Given the description of an element on the screen output the (x, y) to click on. 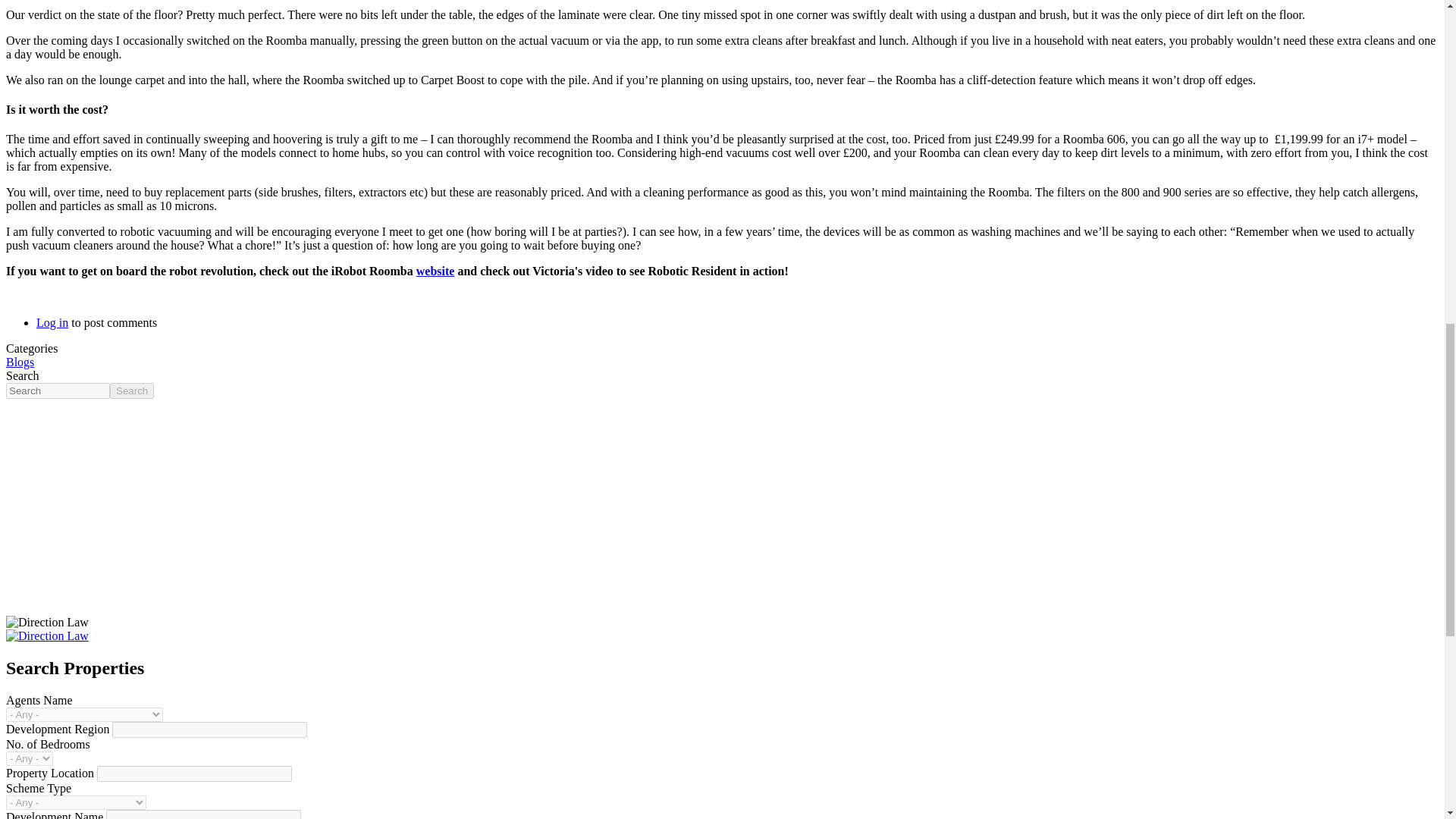
Direction Law (46, 622)
Search (132, 390)
Log in (52, 322)
Enter the terms you wish to search for. (57, 390)
Direction Law (46, 635)
Blogs (19, 361)
website (435, 270)
